Given the description of an element on the screen output the (x, y) to click on. 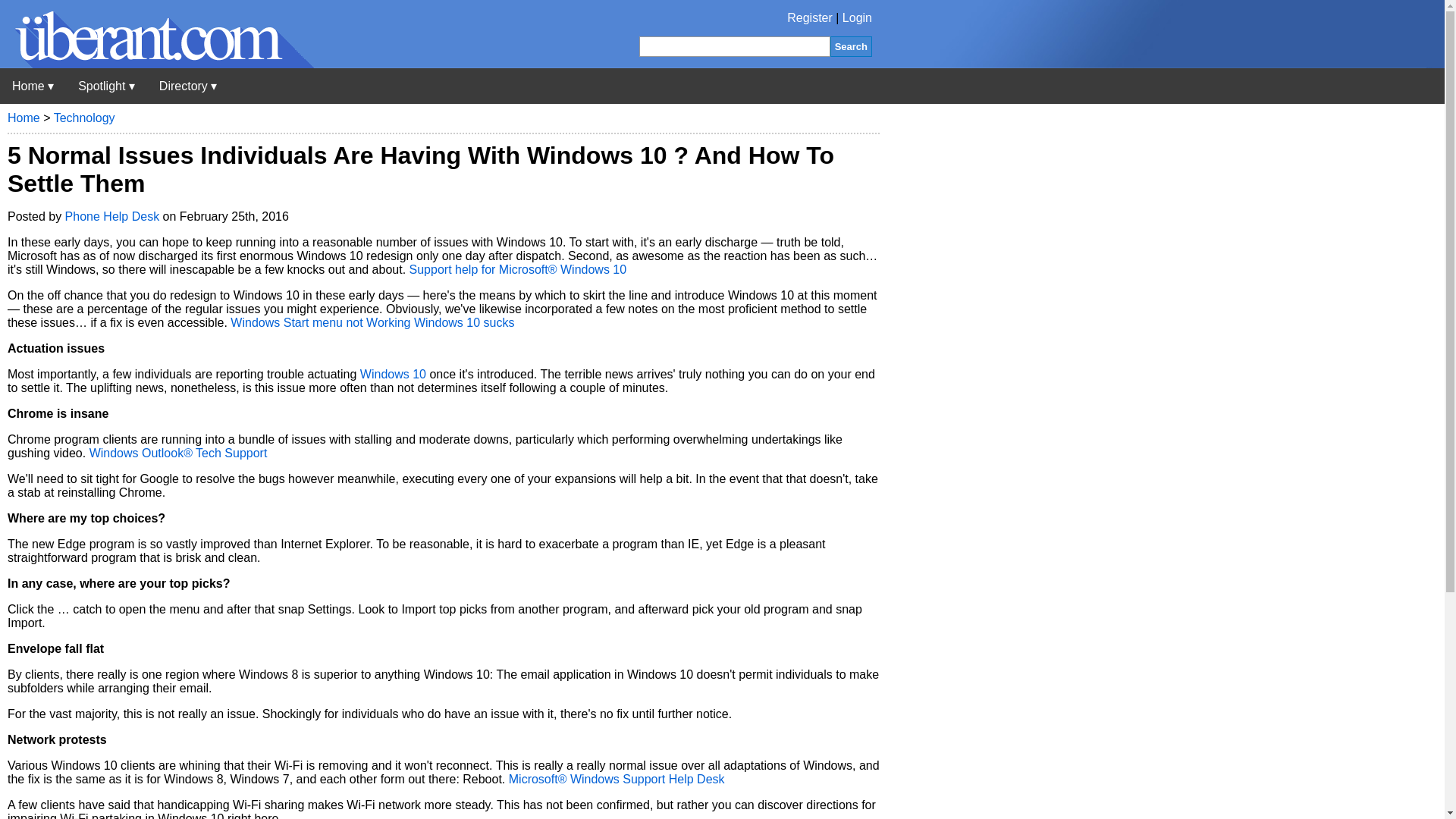
Login (857, 17)
Search (850, 46)
Uberant (32, 85)
Uberant (157, 63)
Register (809, 17)
Search (850, 46)
